Given the description of an element on the screen output the (x, y) to click on. 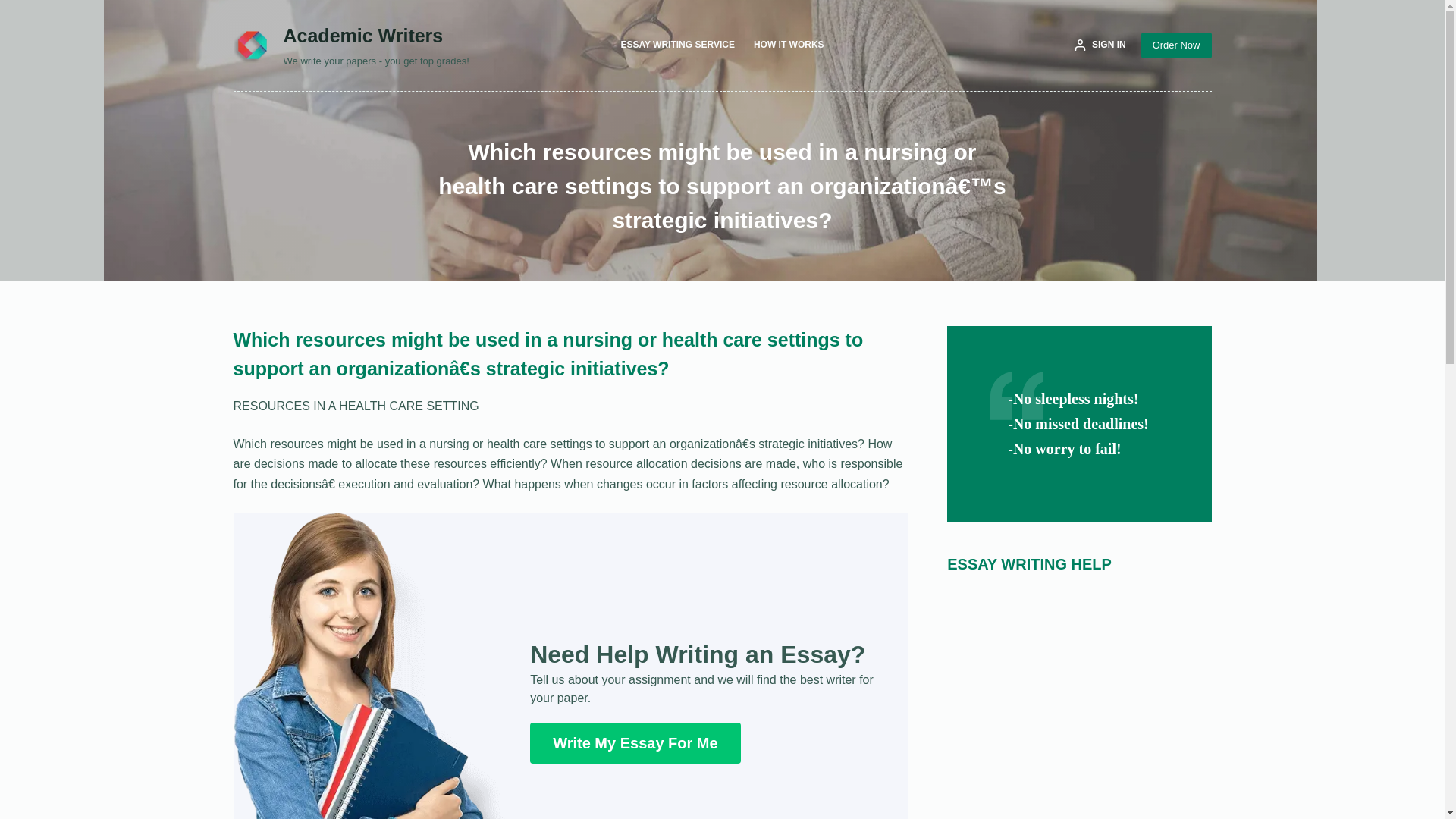
Skip to content (15, 7)
Order Now (1176, 45)
Write My Essay For Me (634, 742)
ESSAY WRITING SERVICE (677, 45)
Academic Writers (363, 35)
HOW IT WORKS (788, 45)
SIGN IN (1099, 45)
